Given the description of an element on the screen output the (x, y) to click on. 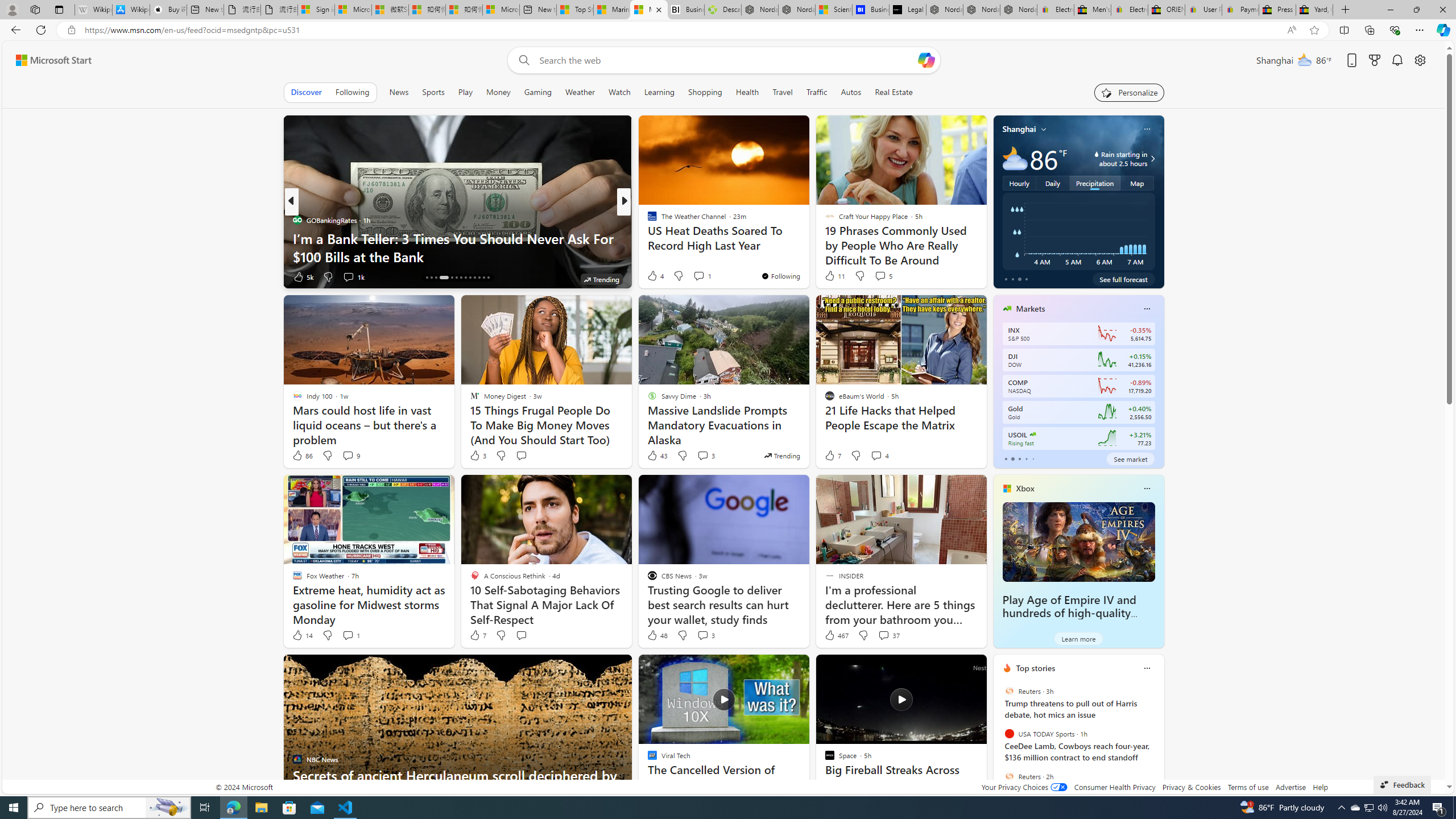
tab-4 (1032, 458)
7 Like (477, 634)
This story is trending (781, 455)
View comments 9 Comment (350, 455)
Sports (432, 92)
tab-1 (1012, 458)
14 Like (301, 634)
